Given the description of an element on the screen output the (x, y) to click on. 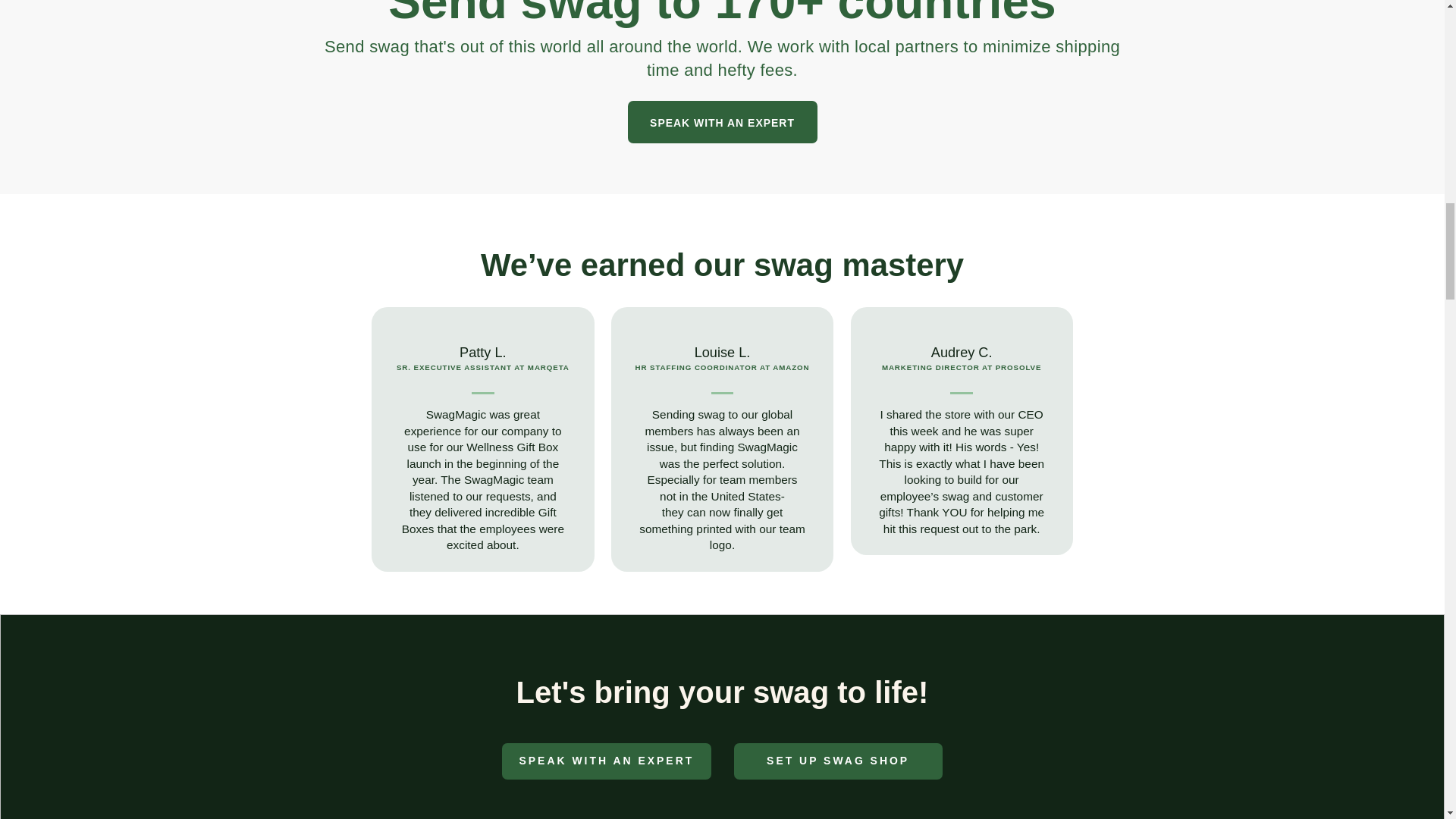
SET UP SWAG SHOP (837, 760)
SPEAK WITH AN EXPERT (606, 760)
SPEAK WITH AN EXPERT (721, 121)
